Given the description of an element on the screen output the (x, y) to click on. 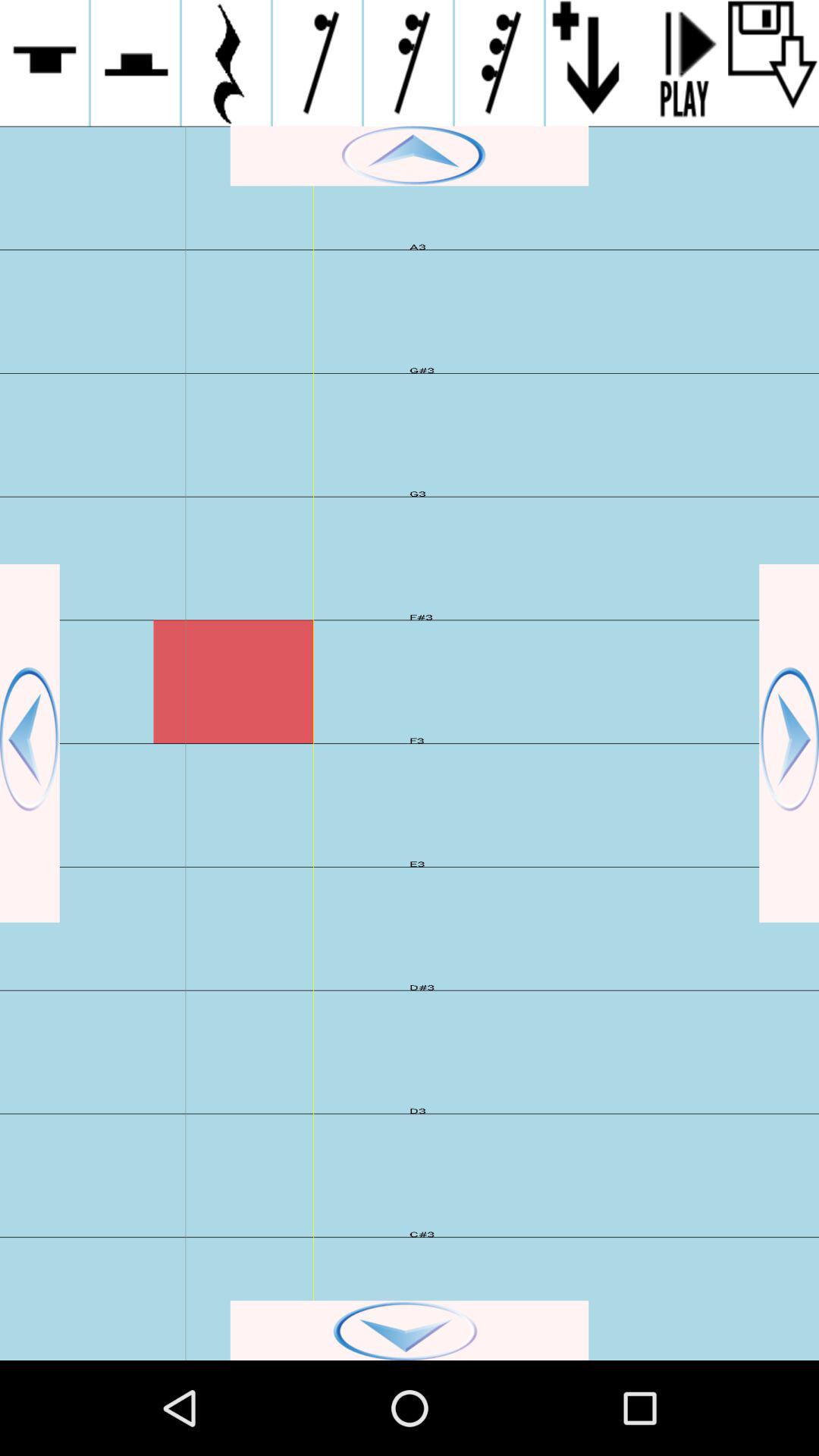
go back (29, 742)
